Given the description of an element on the screen output the (x, y) to click on. 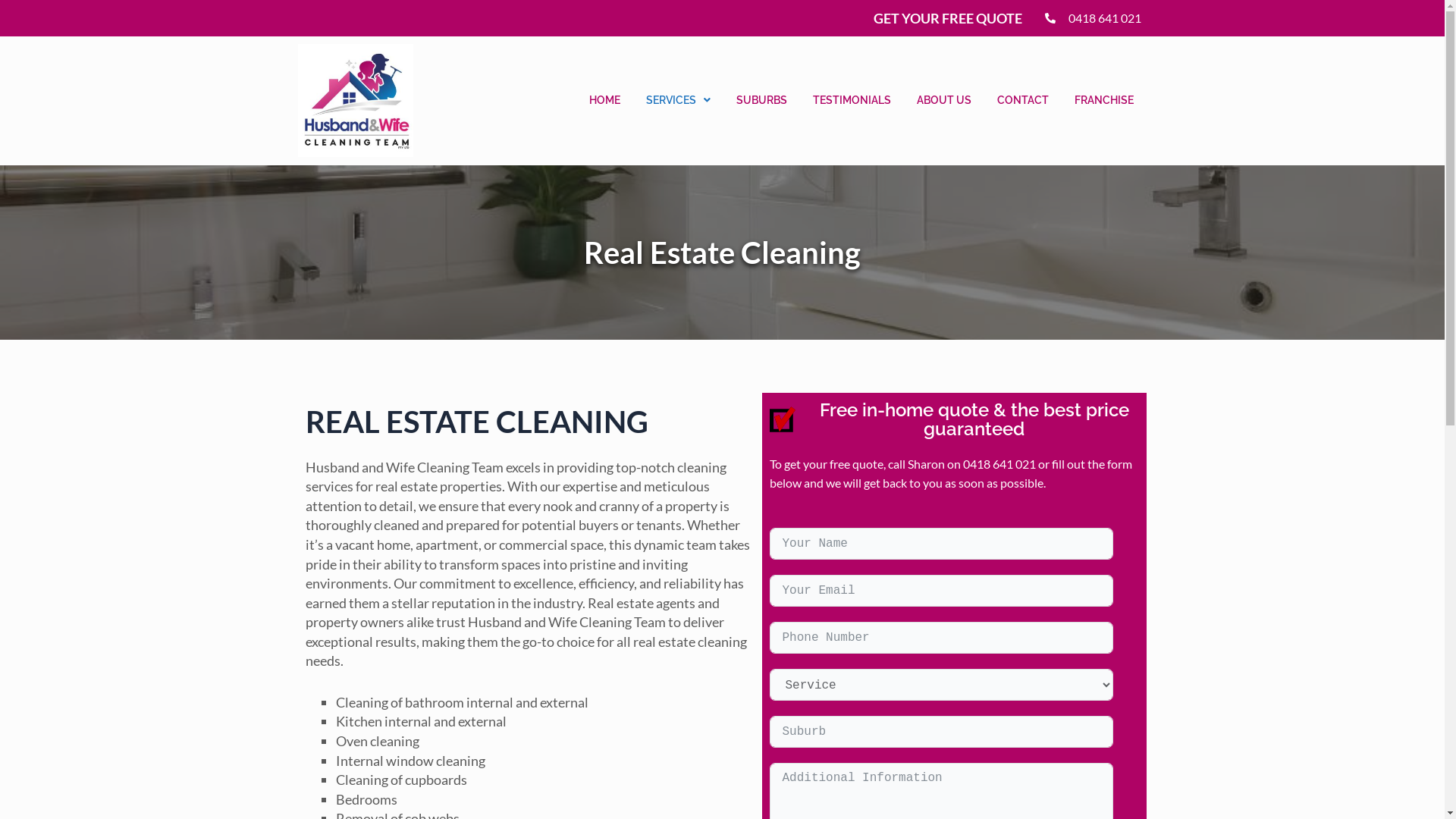
FRANCHISE Element type: text (1103, 99)
0418 641 021 Element type: text (1093, 18)
CONTACT Element type: text (1022, 99)
HOME Element type: text (604, 99)
ABOUT US Element type: text (943, 99)
TESTIMONIALS Element type: text (851, 99)
SERVICES Element type: text (678, 99)
SUBURBS Element type: text (761, 99)
